Given the description of an element on the screen output the (x, y) to click on. 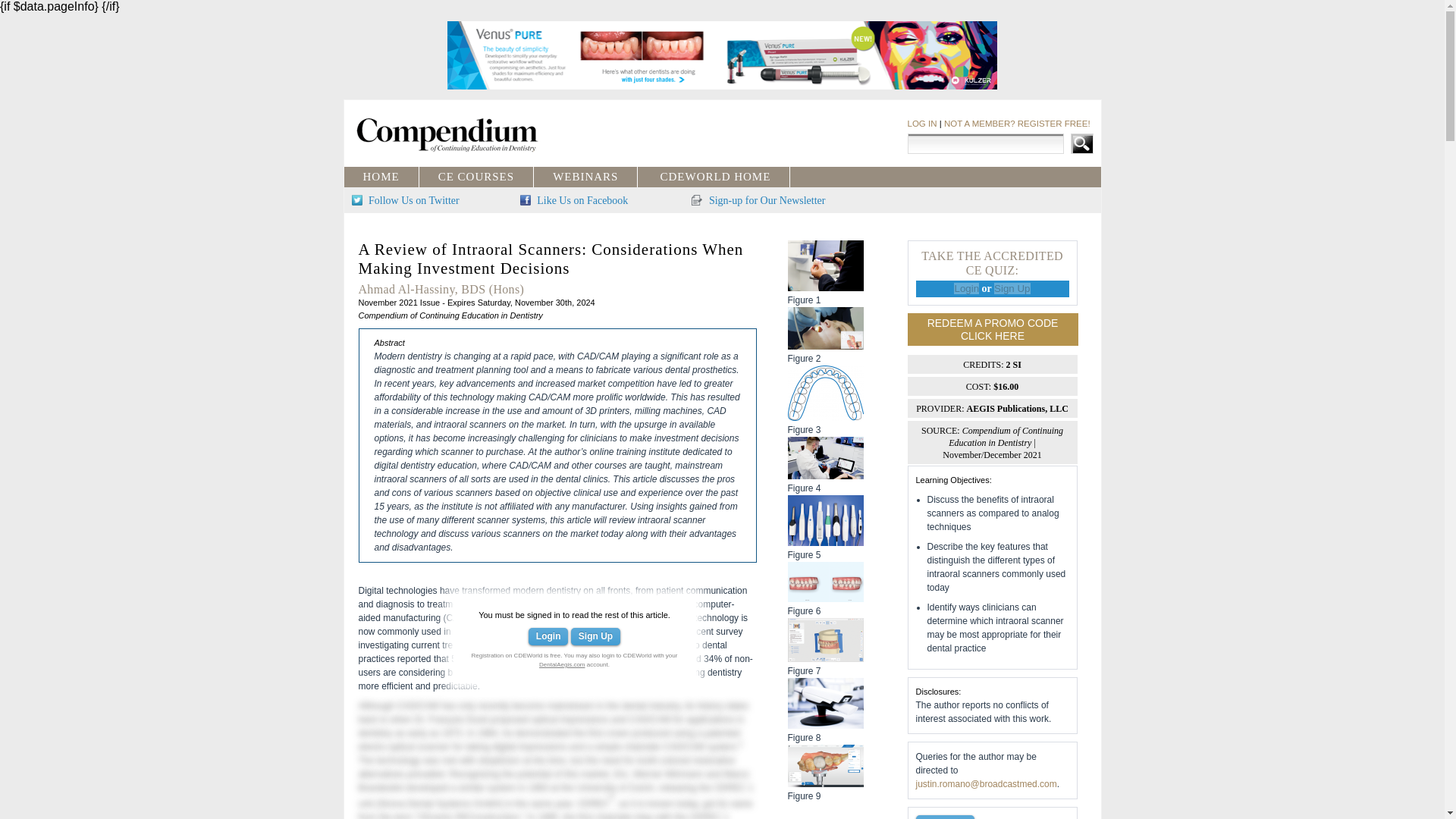
Figure 1 (597, 631)
Sign-up for Our Newsletter (758, 200)
Sign Up (595, 636)
Home (380, 176)
Figure 5 (825, 541)
Figure 2 (825, 345)
Sign-up for Our Newsletter (758, 200)
Follow Us on Twitter (406, 200)
CDEWorld Home (714, 176)
Figure 1 (825, 287)
